Given the description of an element on the screen output the (x, y) to click on. 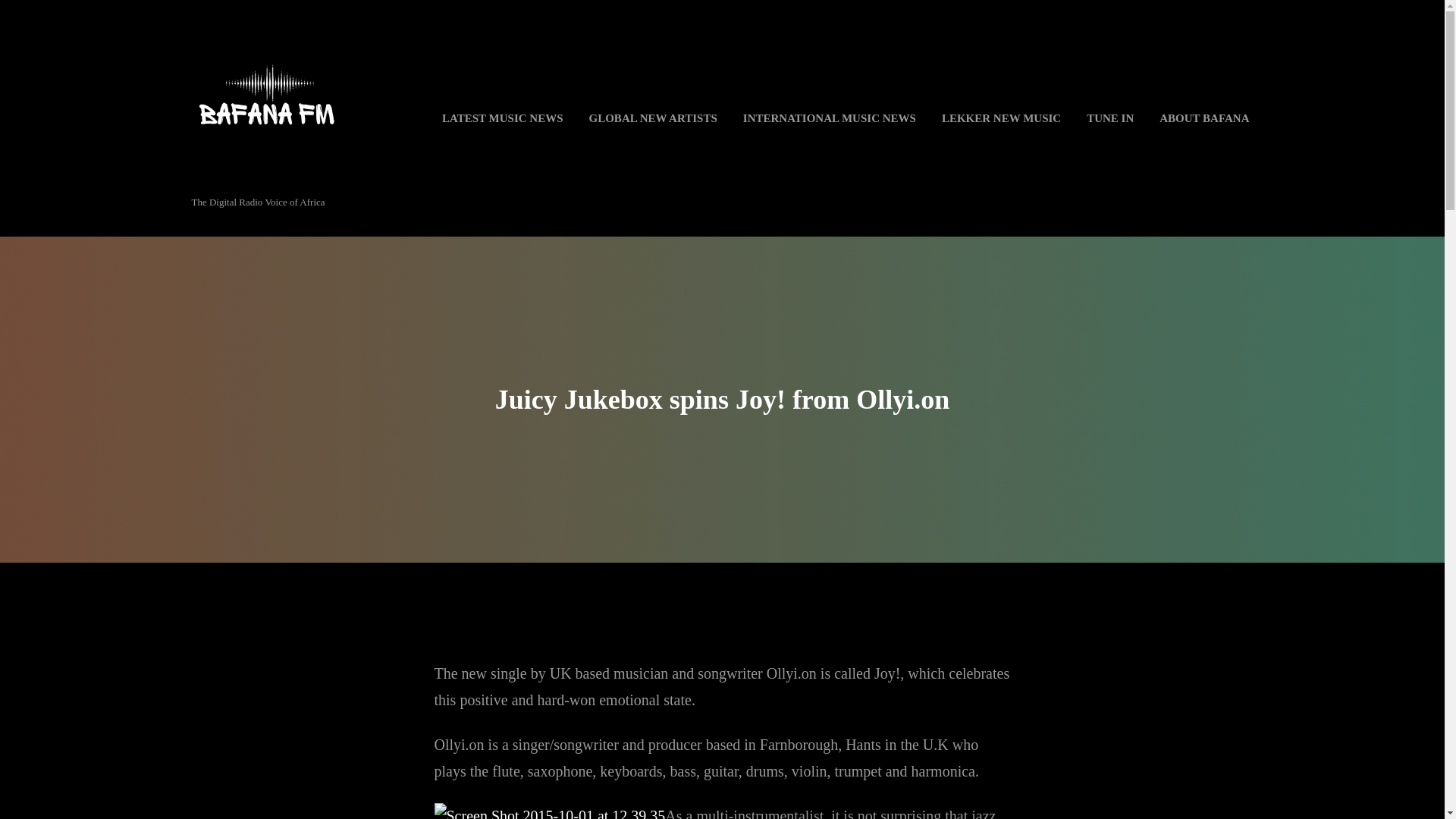
ABOUT BAFANA (1204, 117)
TUNE IN (1110, 117)
GLOBAL NEW ARTISTS (652, 117)
INTERNATIONAL MUSIC NEWS (829, 117)
LEKKER NEW MUSIC (1000, 117)
LATEST MUSIC NEWS (502, 117)
